Given the description of an element on the screen output the (x, y) to click on. 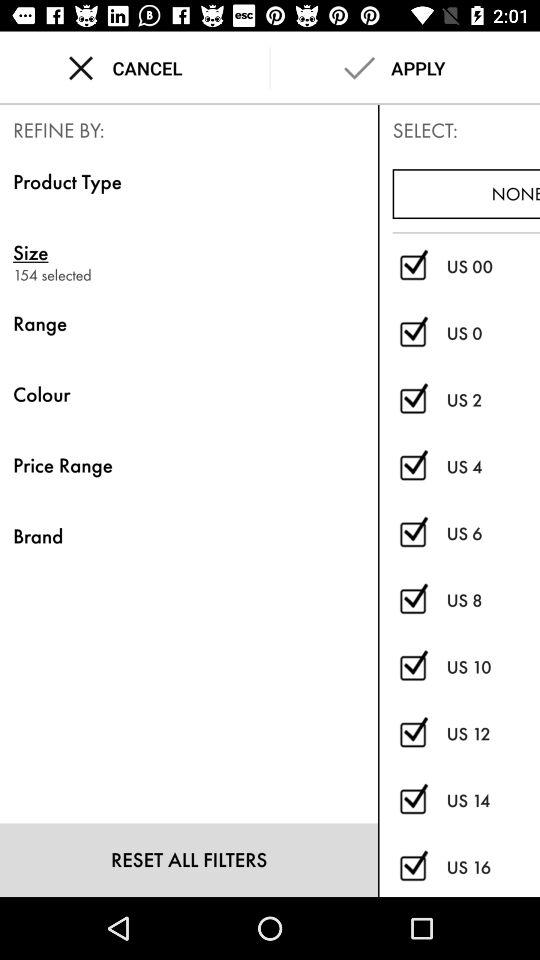
scroll until us 4 (493, 466)
